Given the description of an element on the screen output the (x, y) to click on. 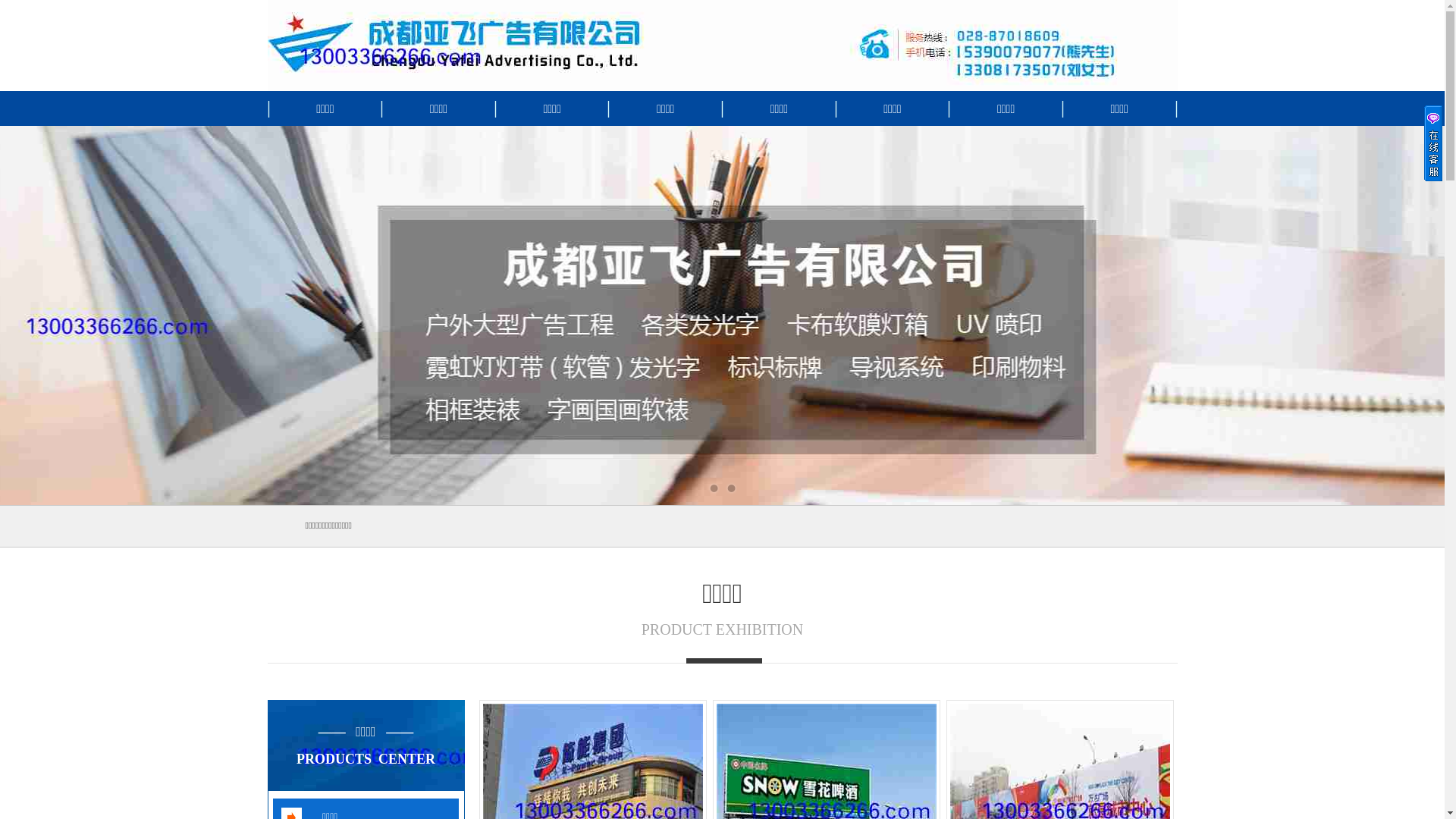
1 Element type: text (713, 488)
2 Element type: text (730, 488)
